Given the description of an element on the screen output the (x, y) to click on. 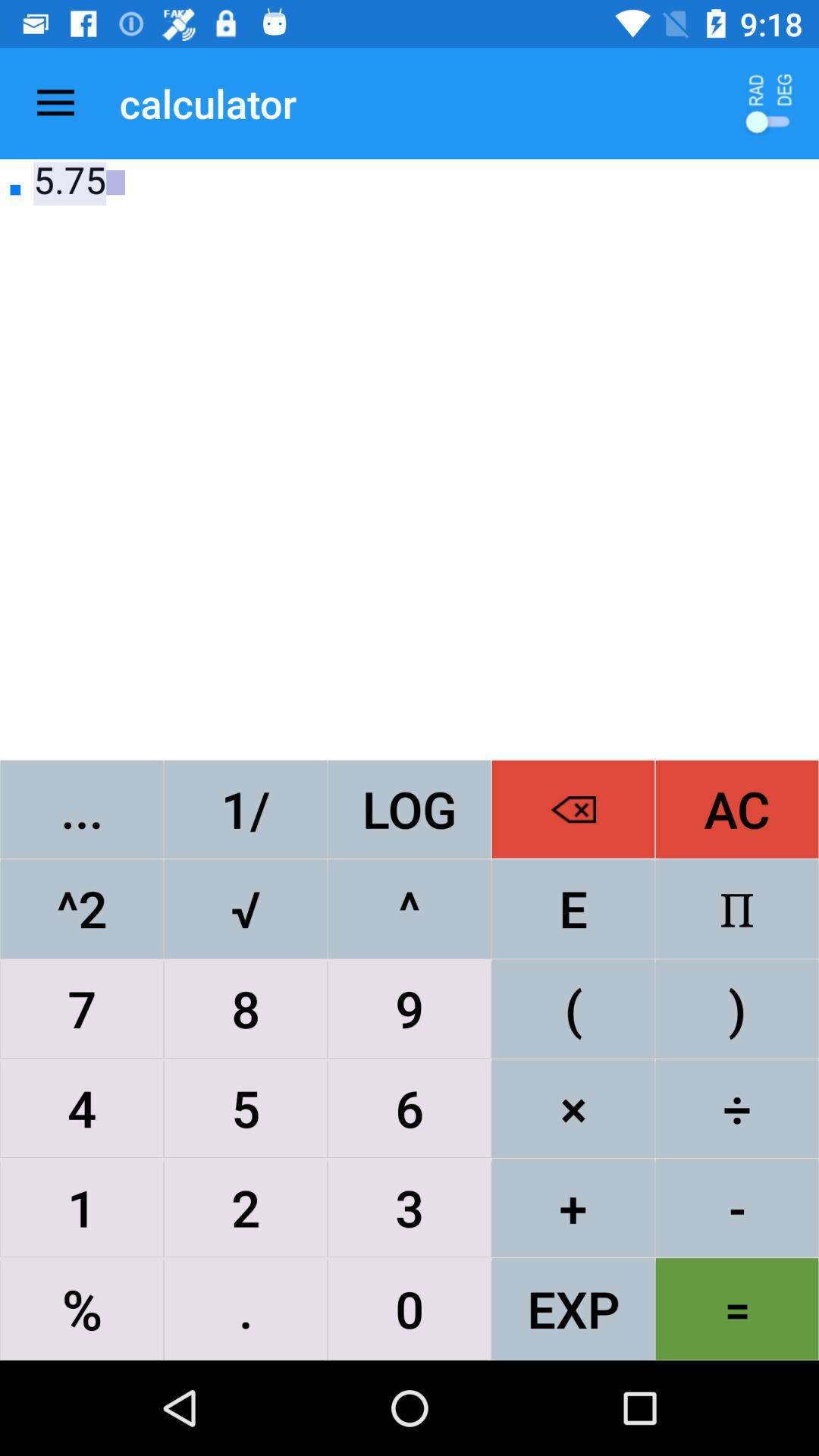
scroll until = icon (736, 1308)
